Given the description of an element on the screen output the (x, y) to click on. 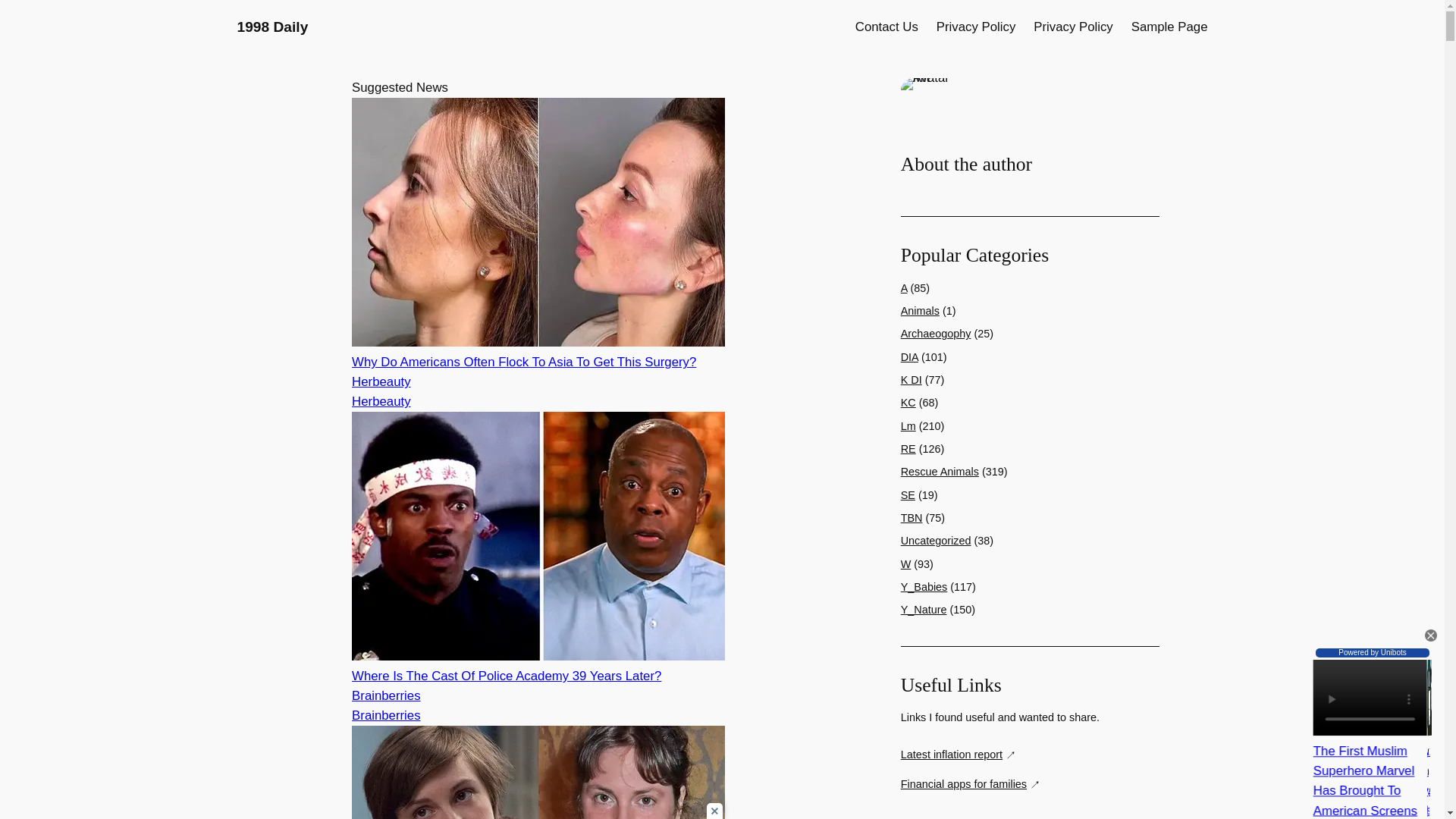
DIA (909, 357)
Sample Page (1169, 26)
KC (908, 402)
Uncategorized (936, 540)
Privacy Policy (975, 26)
Archaeogophy (936, 333)
Lm (908, 426)
K DI (911, 379)
Financial apps for families (971, 784)
TBN (912, 517)
RE (908, 449)
Rescue Animals (939, 471)
Privacy Policy (1072, 26)
Contact Us (887, 26)
Animals (920, 310)
